Given the description of an element on the screen output the (x, y) to click on. 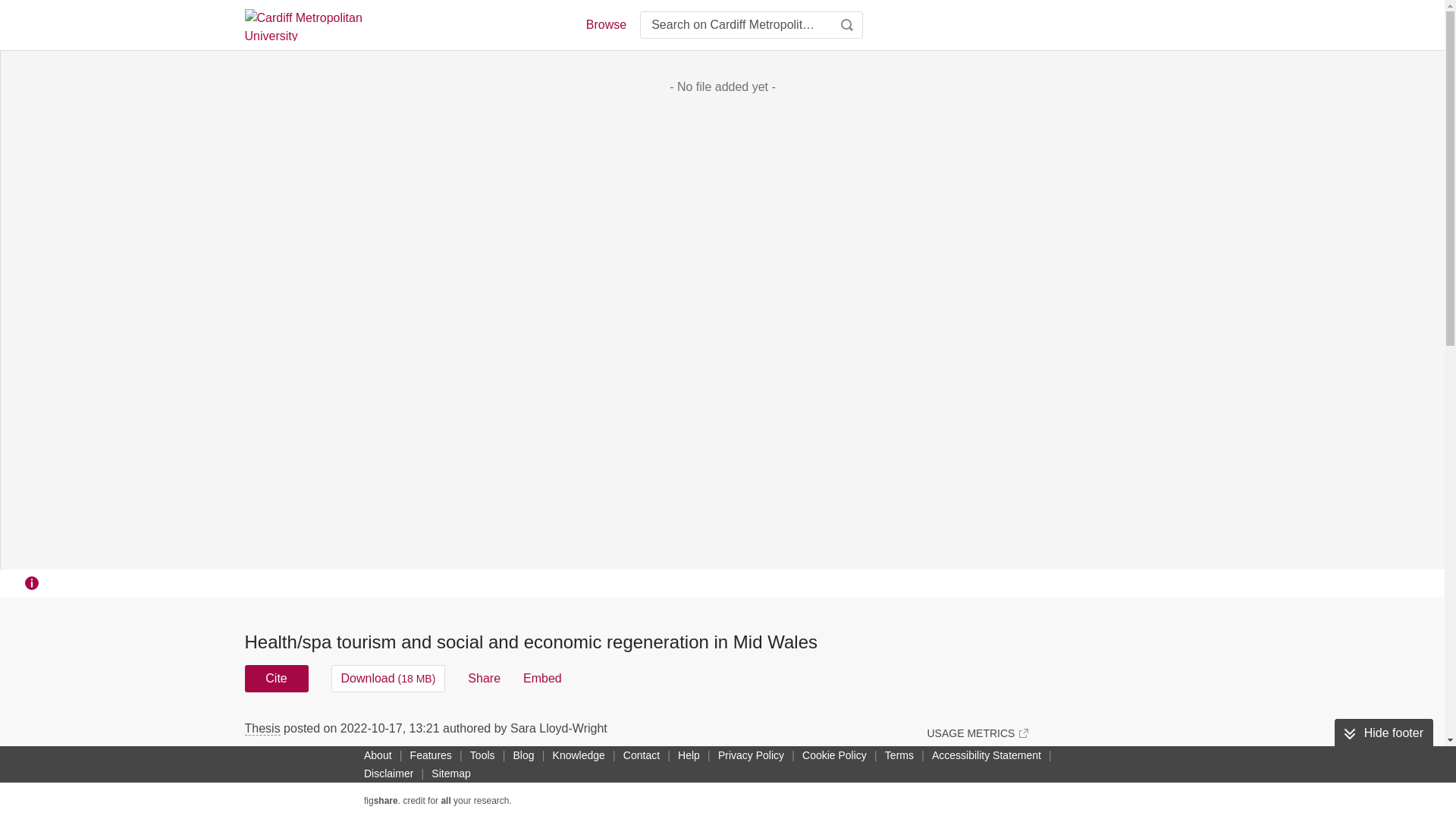
Features (431, 755)
Disclaimer (388, 773)
Sitemap (450, 773)
Privacy Policy (751, 755)
Browse (605, 24)
Cookie Policy (833, 755)
Tools (482, 755)
Cite (275, 678)
Embed (542, 678)
Terms (899, 755)
